Given the description of an element on the screen output the (x, y) to click on. 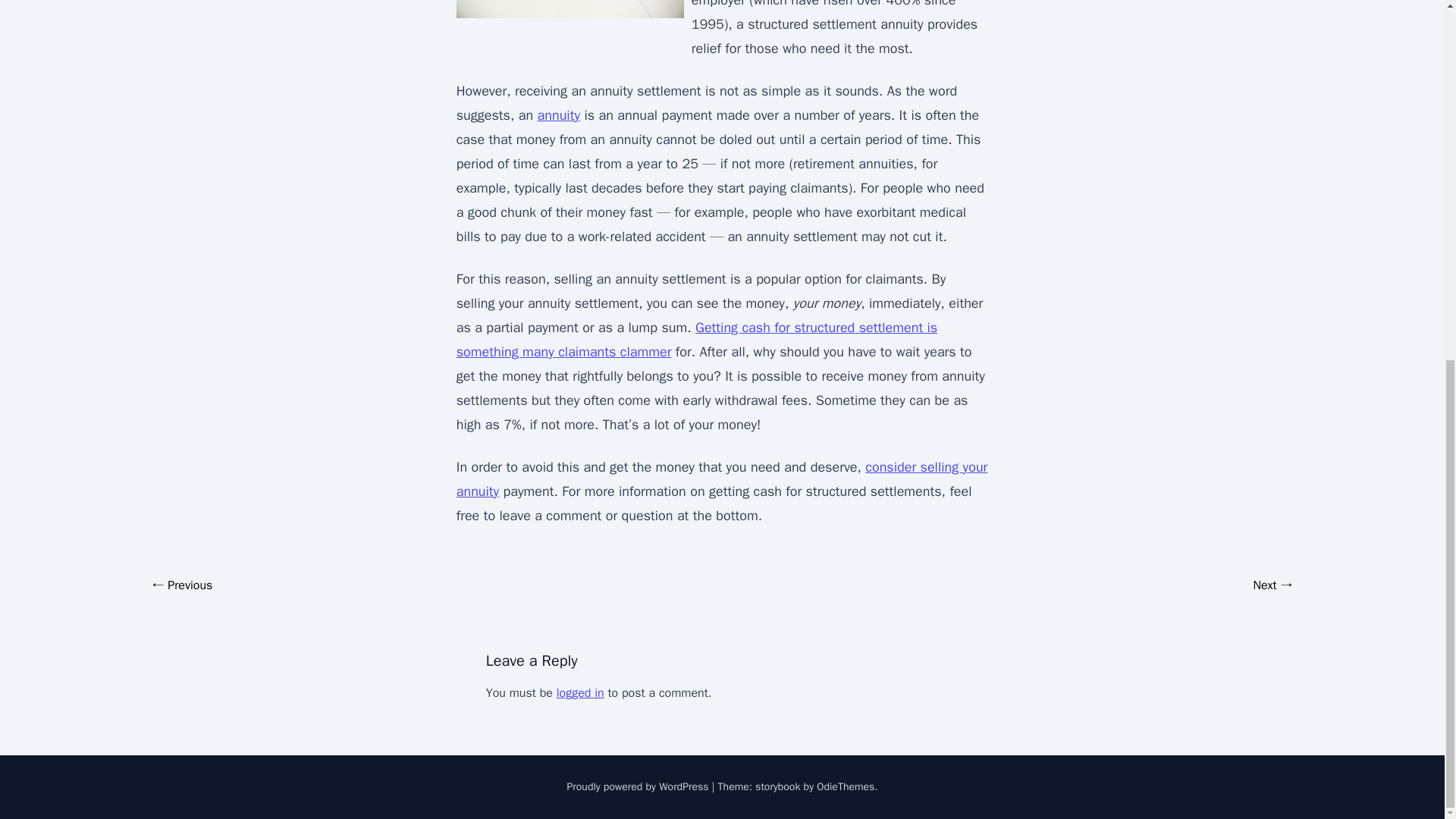
OdieThemes (845, 786)
annuity (558, 115)
logged in (580, 693)
Learn more about Cash for structured settlement (697, 339)
consider selling your annuity (722, 478)
Proudly powered by WordPress (639, 786)
Cash for structured settlement payments, Lottery payments (558, 115)
Structured settlement cash now (722, 478)
